Given the description of an element on the screen output the (x, y) to click on. 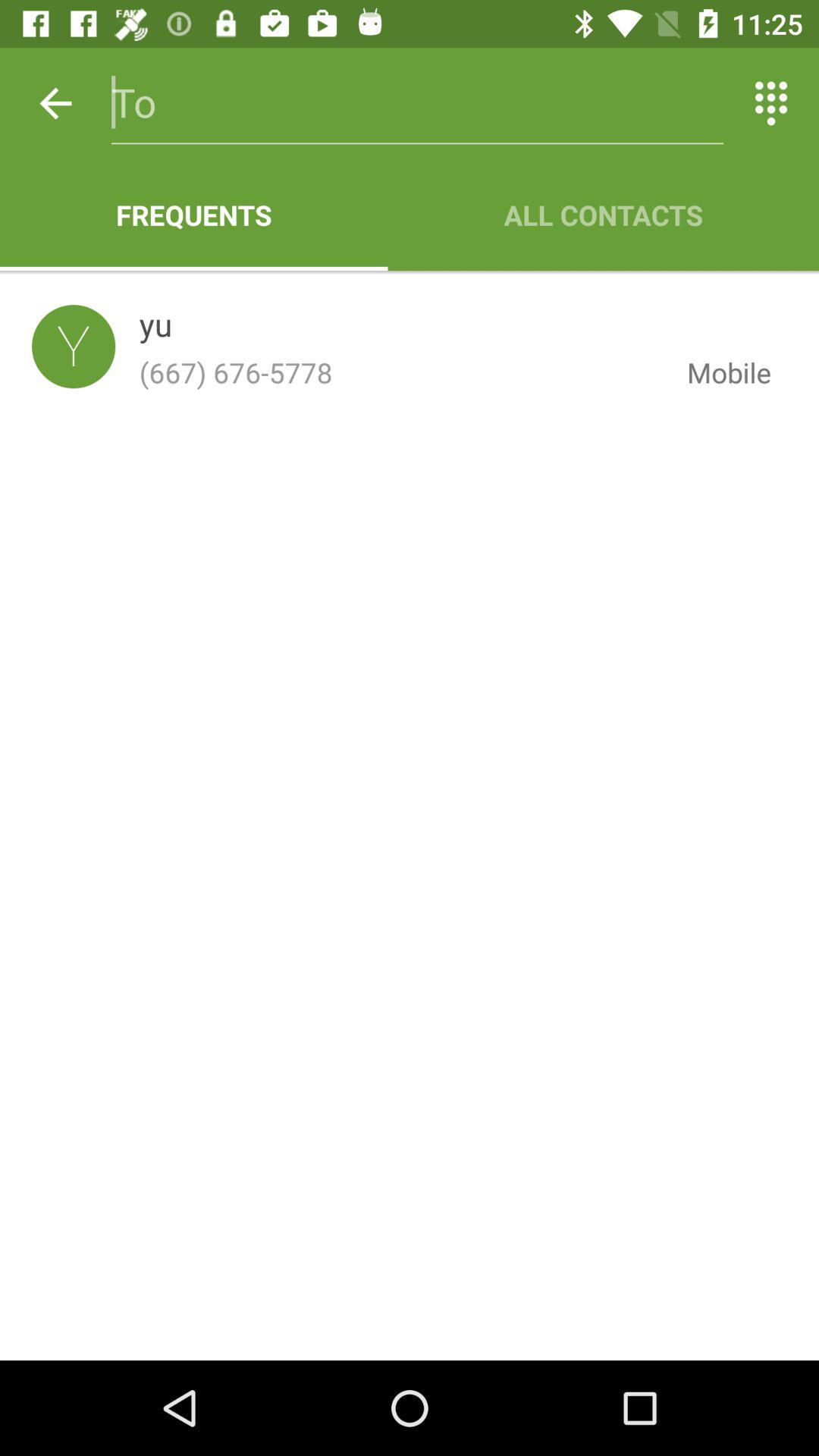
press item next to the frequents (603, 214)
